Given the description of an element on the screen output the (x, y) to click on. 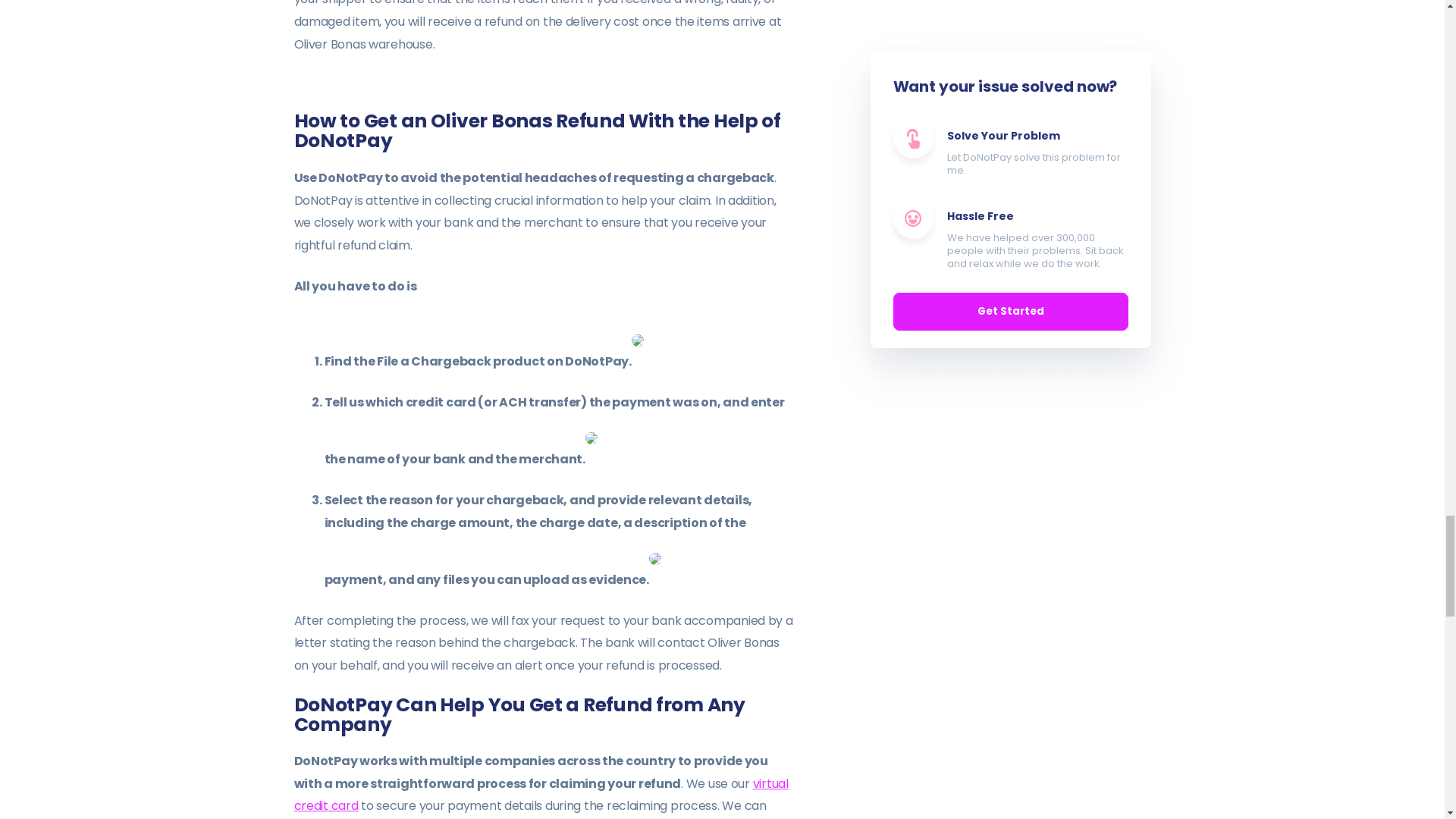
virtual credit card (541, 794)
